Given the description of an element on the screen output the (x, y) to click on. 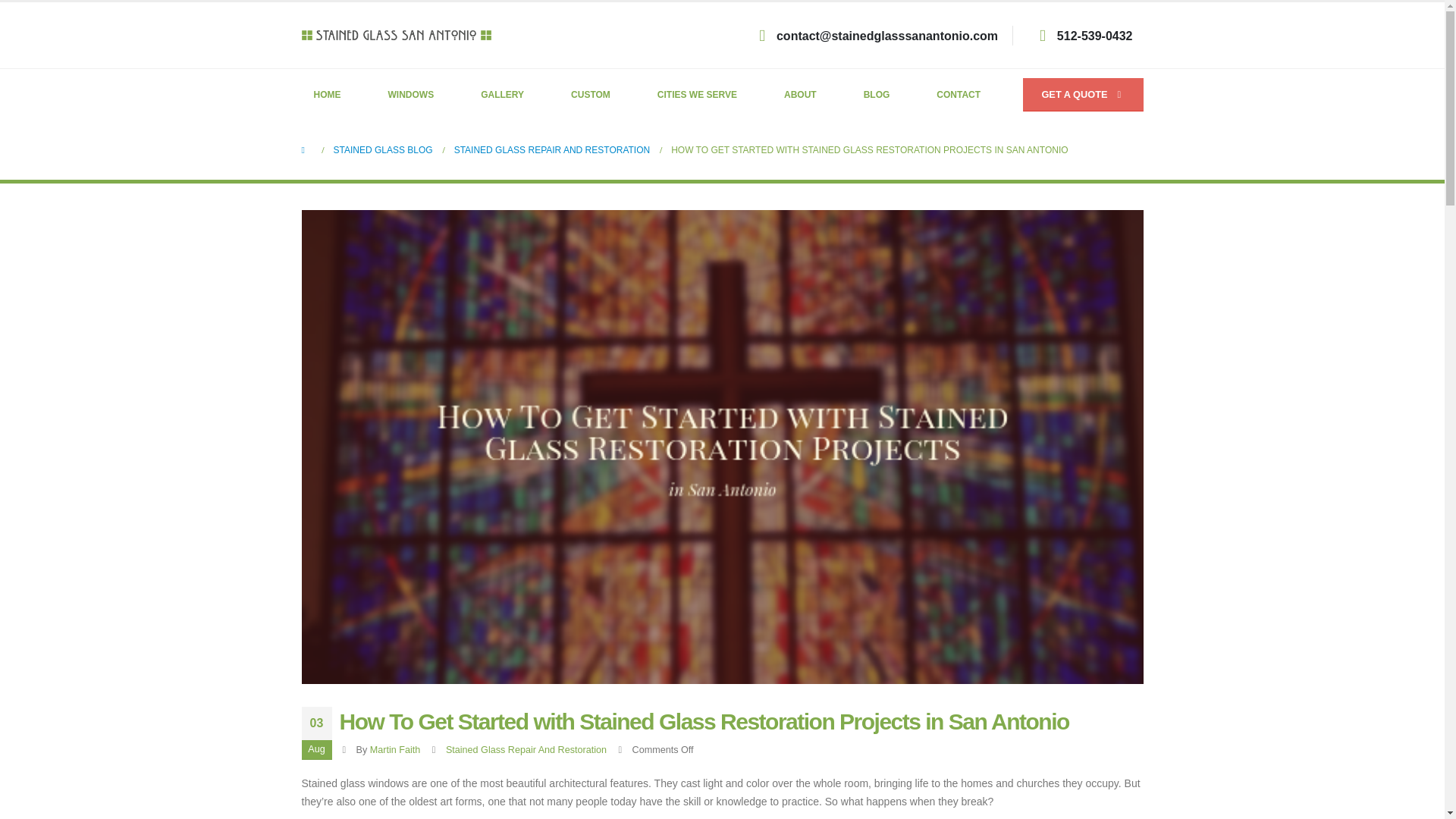
Windows (410, 94)
Stained Glass San Antonio - Beautiful Stained Glass Windows (396, 35)
GET A QUOTE (1082, 94)
San Antonio Stained Glass Gallery (501, 94)
ABOUT (799, 94)
Phone (1094, 36)
CITIES WE SERVE (697, 94)
HOME (327, 94)
WINDOWS (410, 94)
Custom (591, 94)
BLOG (876, 94)
GALLERY (501, 94)
Cities We Serve (697, 94)
Home (327, 94)
CONTACT (958, 94)
